Given the description of an element on the screen output the (x, y) to click on. 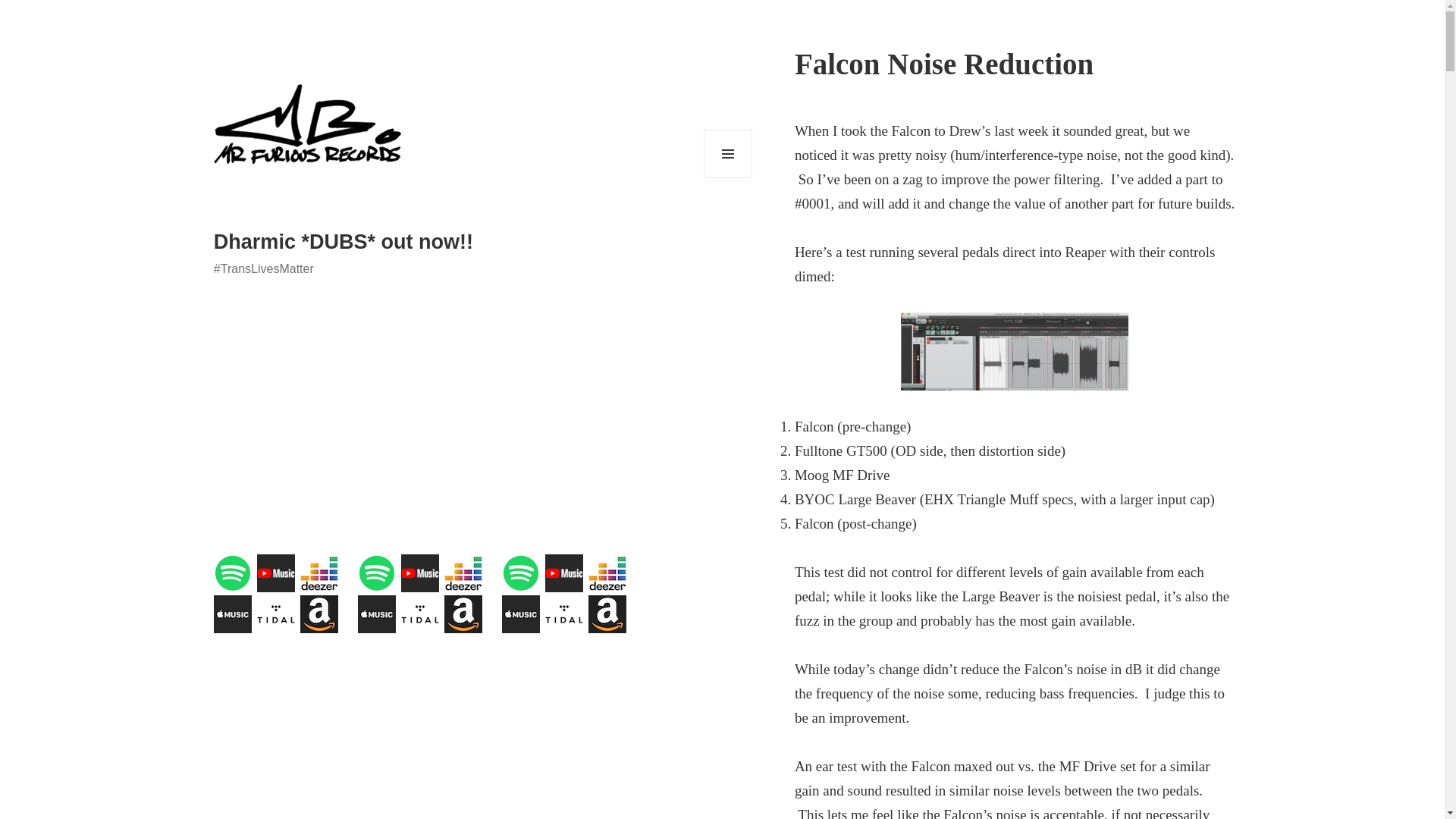
MENU AND WIDGETS (727, 153)
